Given the description of an element on the screen output the (x, y) to click on. 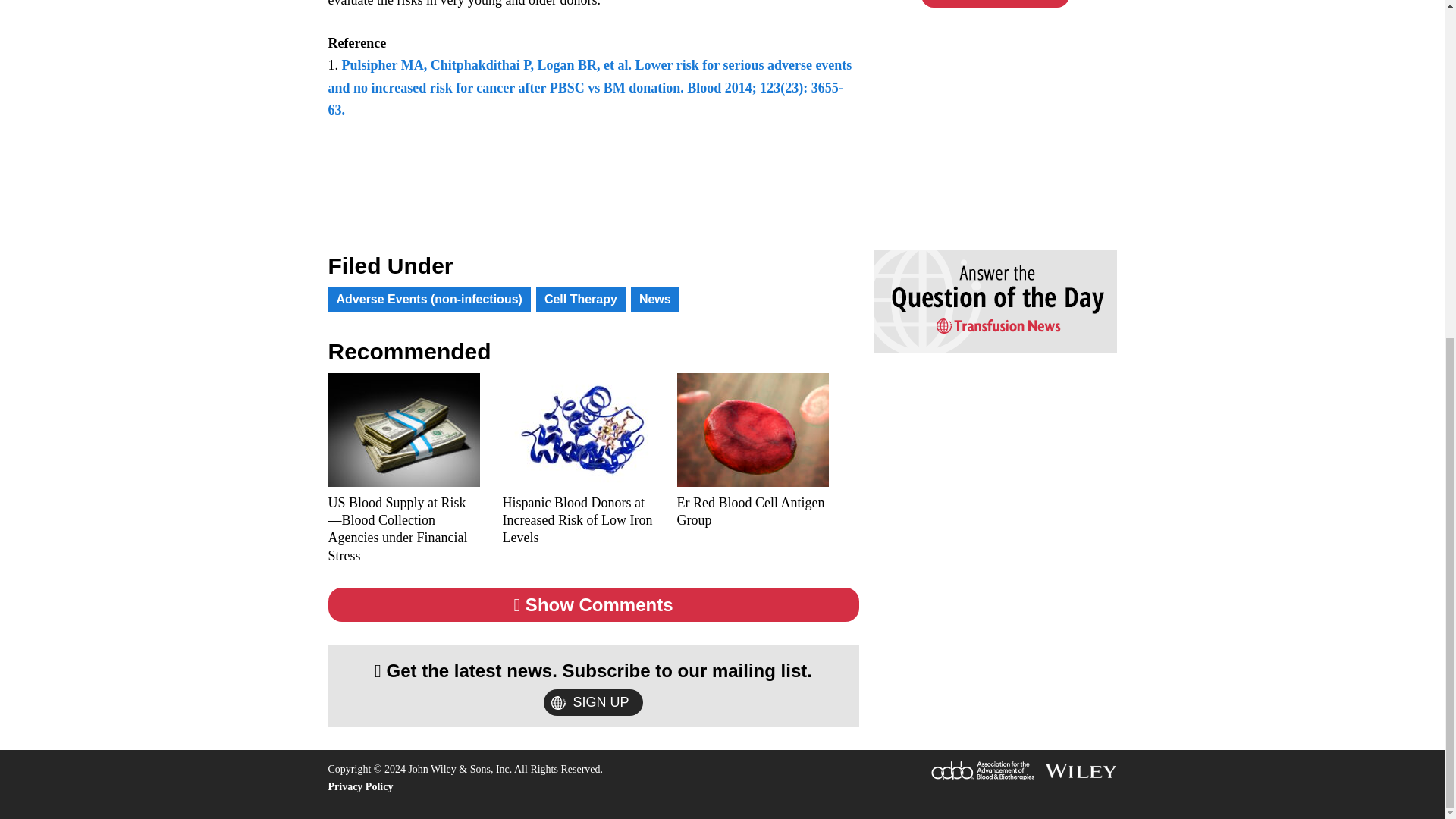
3rd party ad content (986, 128)
Er Red Blood Cell Antigen Group (752, 511)
Cell Therapy (580, 299)
Hispanic Blood Donors at Increased Risk of Low Iron Levels (577, 520)
News (654, 299)
